Given the description of an element on the screen output the (x, y) to click on. 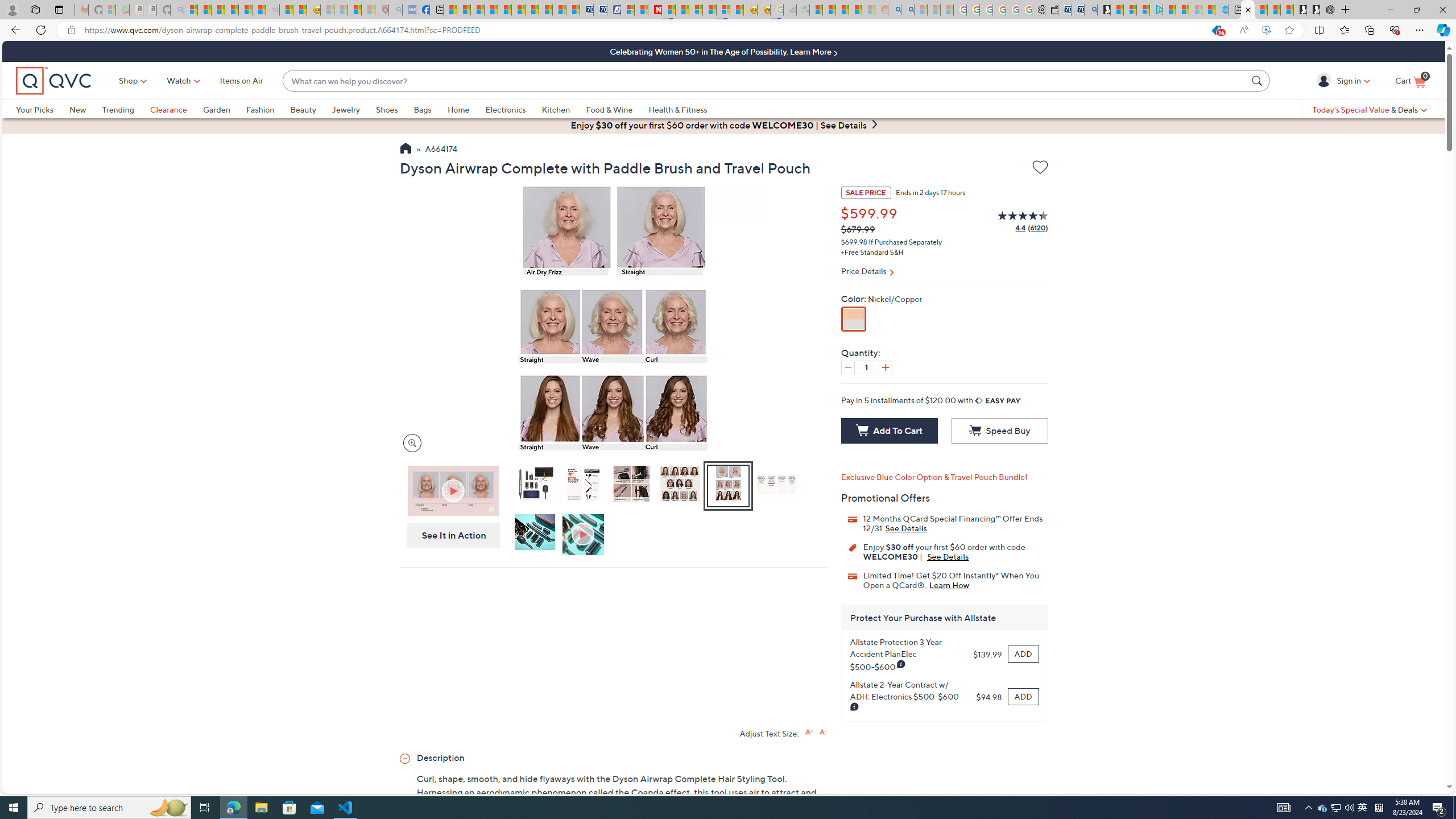
How to Use (583, 534)
Garden (224, 109)
Return to QVC Homepage (405, 149)
Food & Wine (617, 109)
Dyson Airwrap Complete with Paddle Brush and Travel Pouch (533, 483)
Kitchen (563, 109)
